Given the description of an element on the screen output the (x, y) to click on. 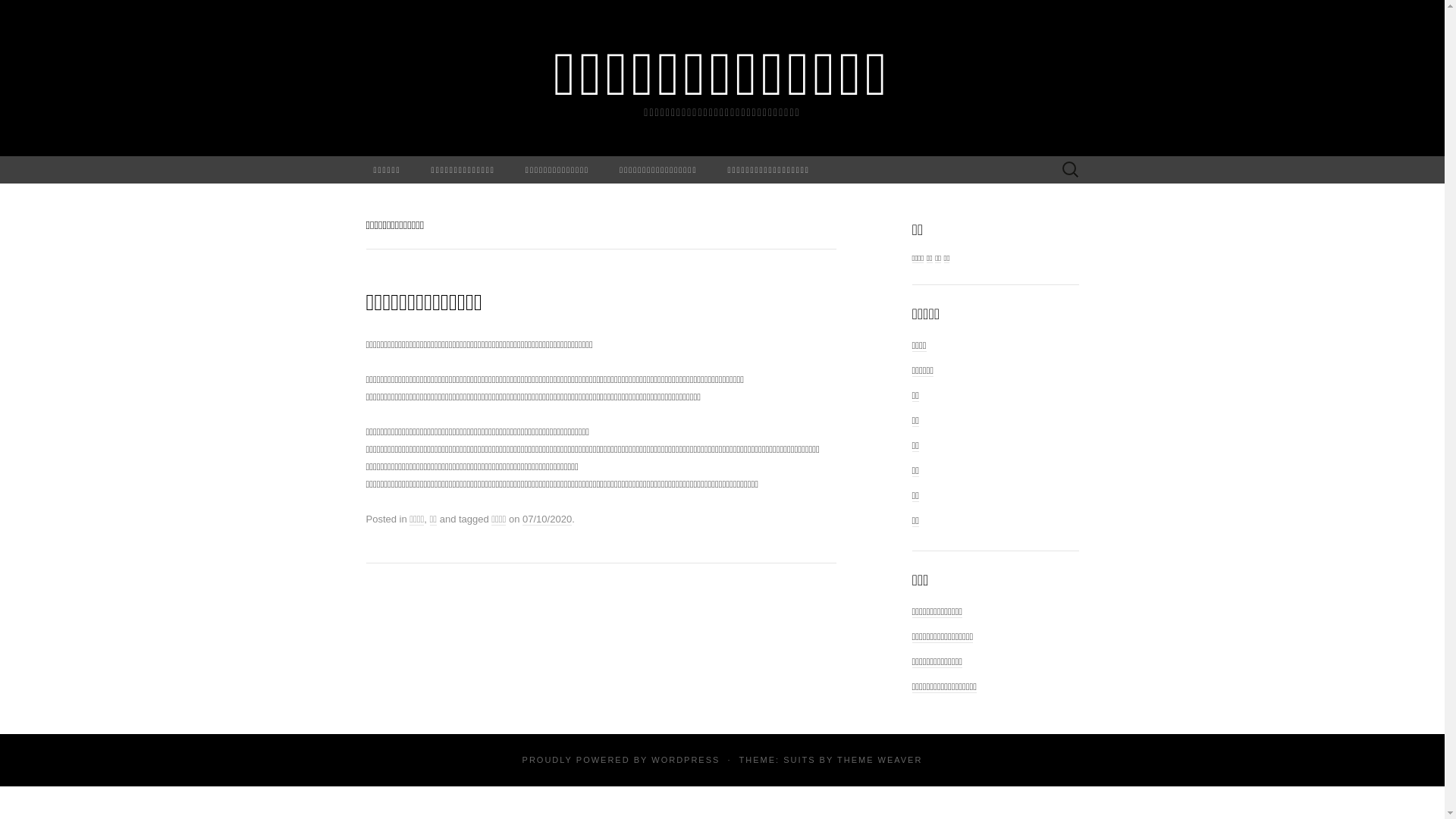
THEME WEAVER Element type: text (879, 759)
07/10/2020 Element type: text (546, 519)
WORDPRESS Element type: text (685, 759)
